Given the description of an element on the screen output the (x, y) to click on. 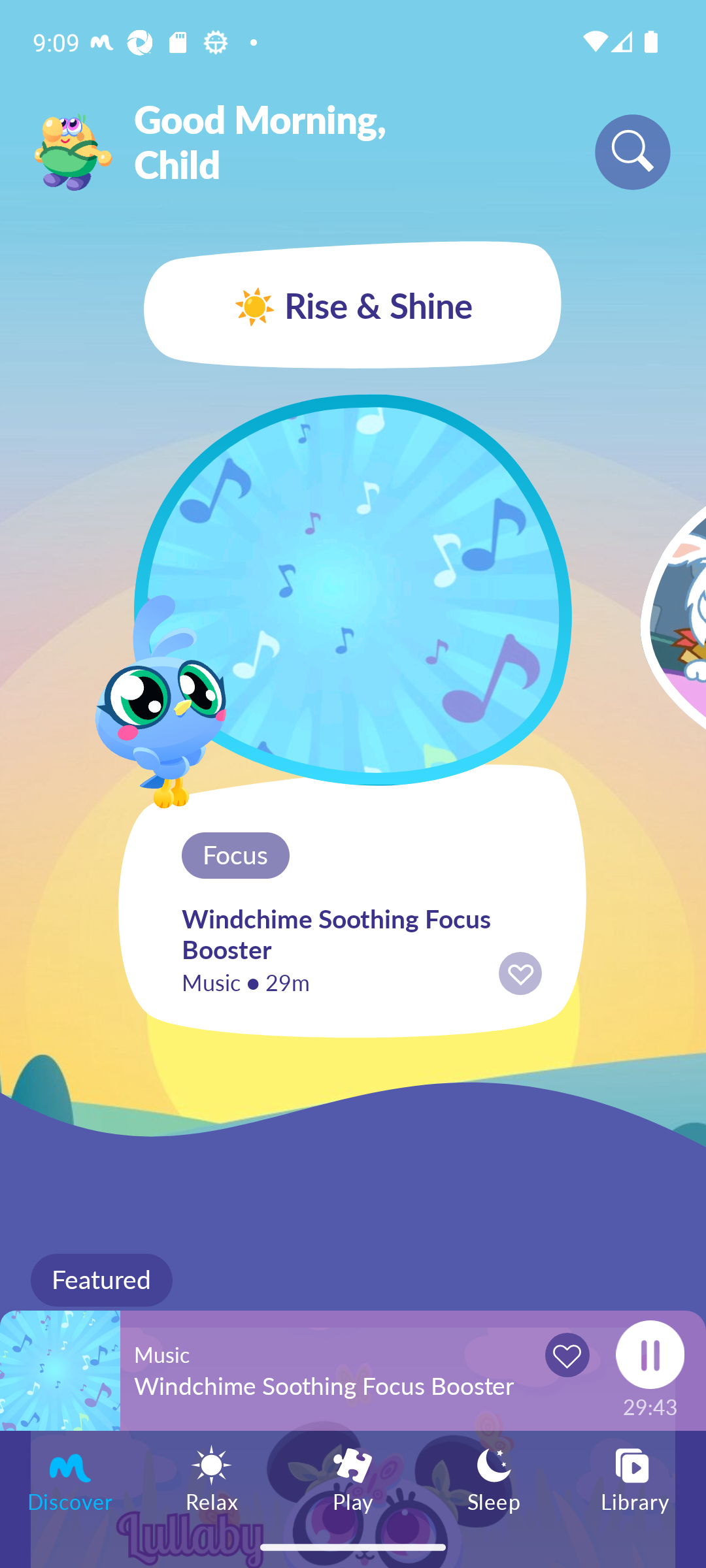
Search (632, 151)
action (520, 973)
Music Windchime Soothing Focus Booster 29:43 (353, 1370)
Relax (211, 1478)
Play (352, 1478)
Sleep (493, 1478)
Library (635, 1478)
